Given the description of an element on the screen output the (x, y) to click on. 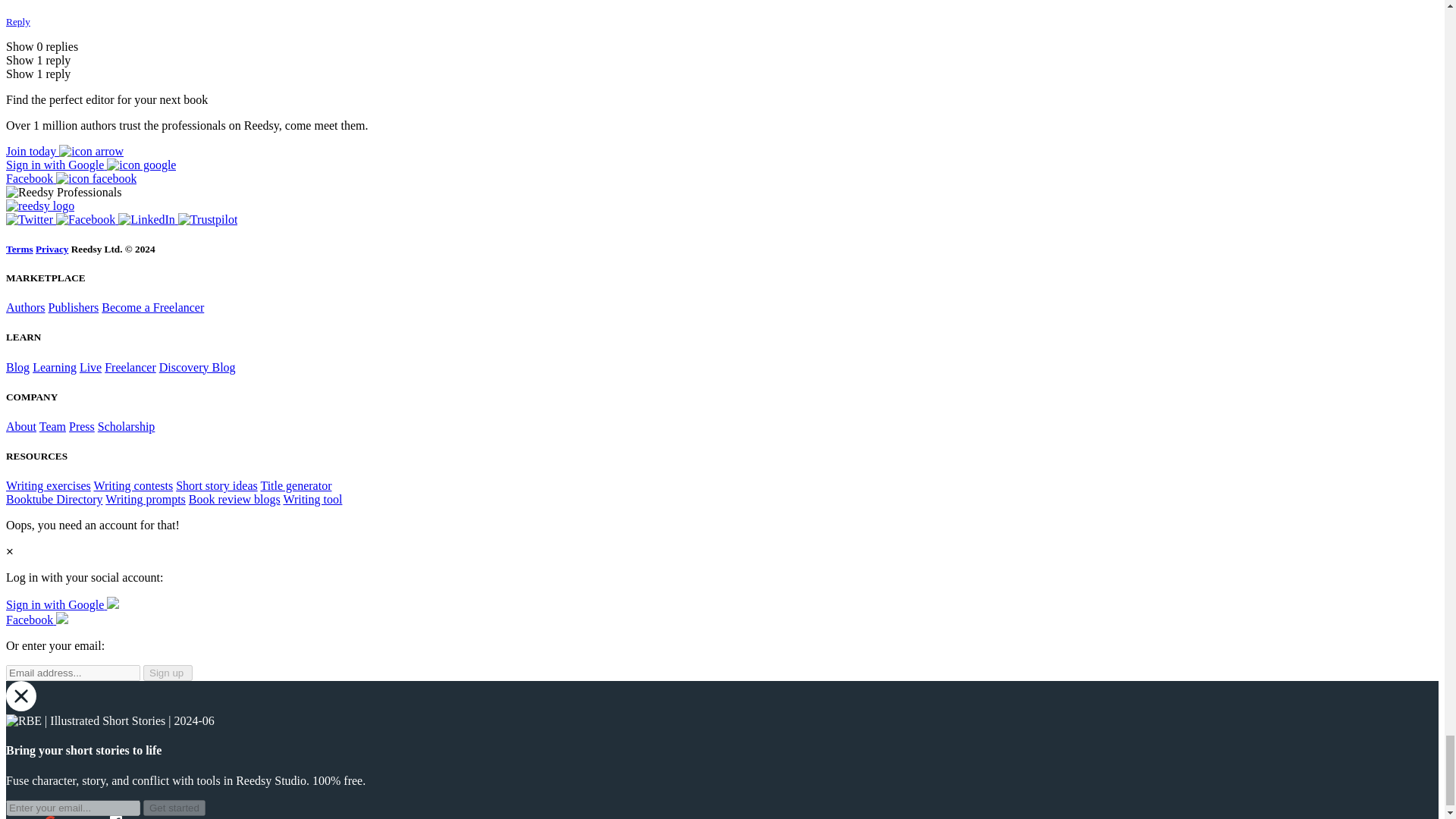
Twitter (30, 219)
Trustpilot (207, 219)
Sign in with Google (62, 604)
Facebook (86, 219)
Sign in with Facebook (70, 178)
Sign in with Facebook (36, 619)
LinkedIn (147, 219)
Get started (173, 807)
Sign in with Google (90, 164)
Sign up  (167, 672)
